Given the description of an element on the screen output the (x, y) to click on. 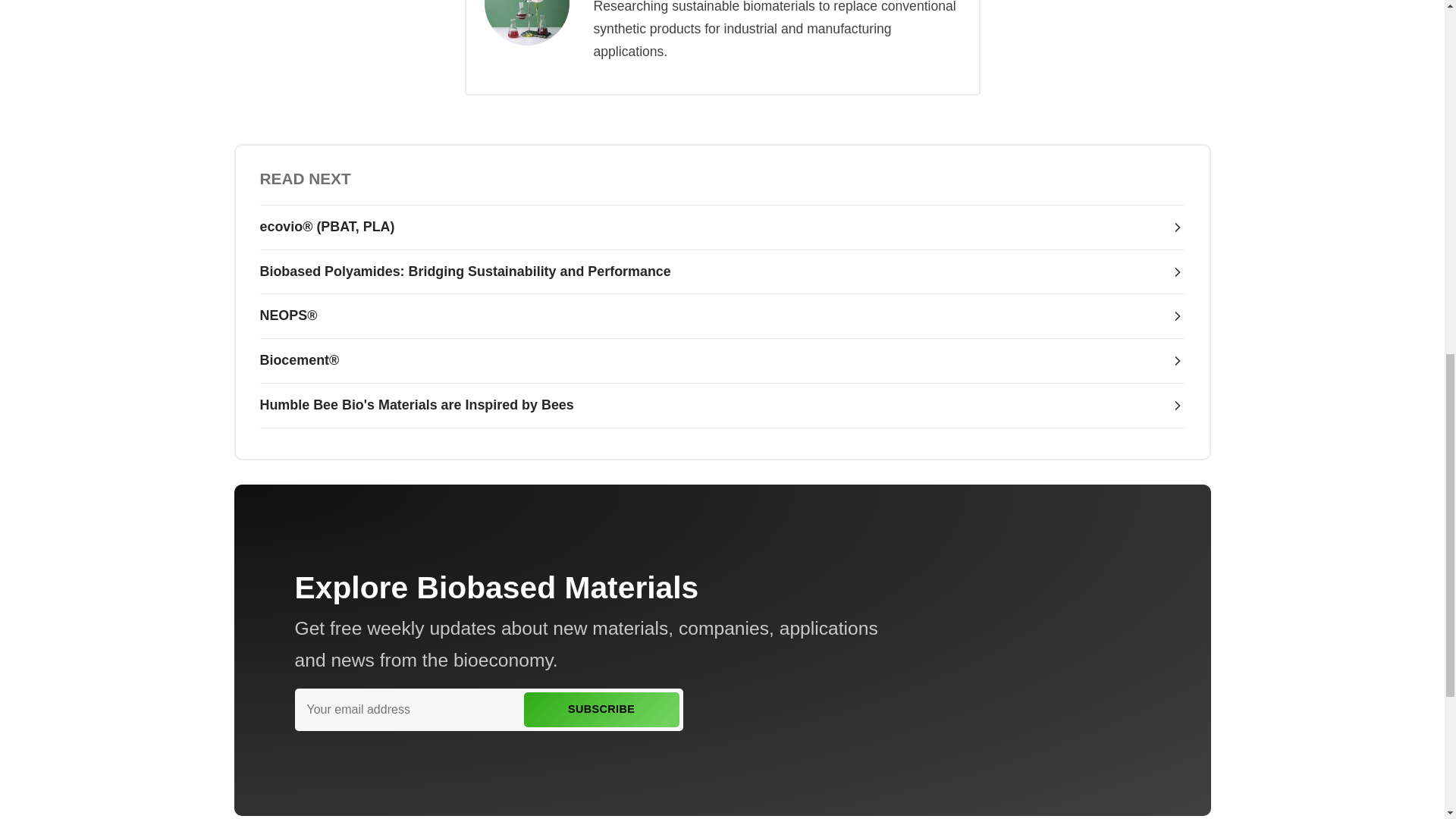
Biobased Polyamides: Bridging Sustainability and Performance (722, 272)
